Given the description of an element on the screen output the (x, y) to click on. 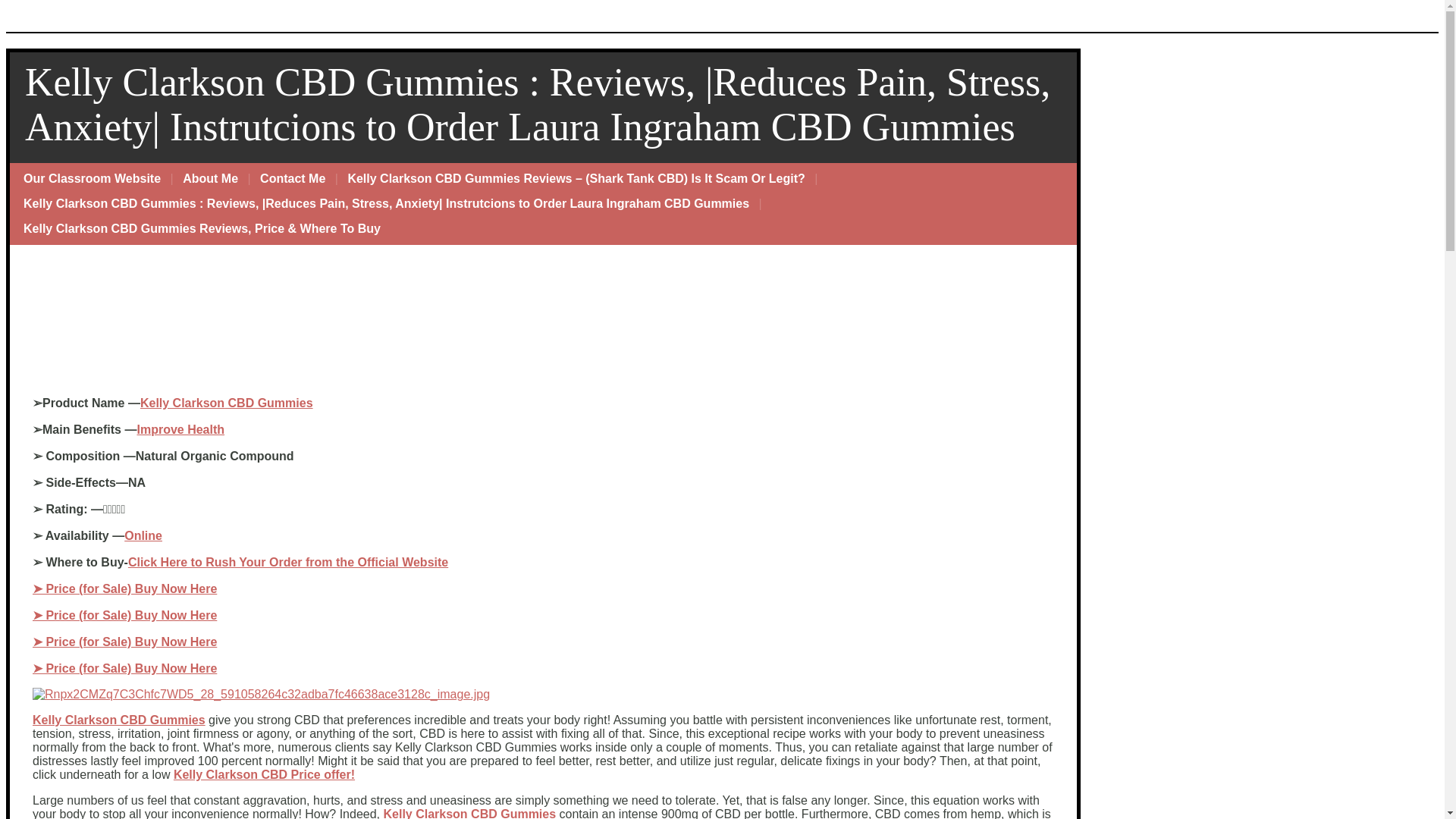
 CBD Gummies (268, 402)
Our Classroom Website (92, 179)
Improve Health (180, 429)
Contact Me (292, 179)
Kelly Clarkson CBD Gummies (118, 719)
Kelly Clarkson CBD Price offer! (264, 774)
Kelly Clarkson (181, 402)
Kelly Clarkson CBD Gummies (469, 813)
About Me (210, 179)
Online (142, 535)
Click Here to Rush Your Order from the Official Website (288, 562)
